Given the description of an element on the screen output the (x, y) to click on. 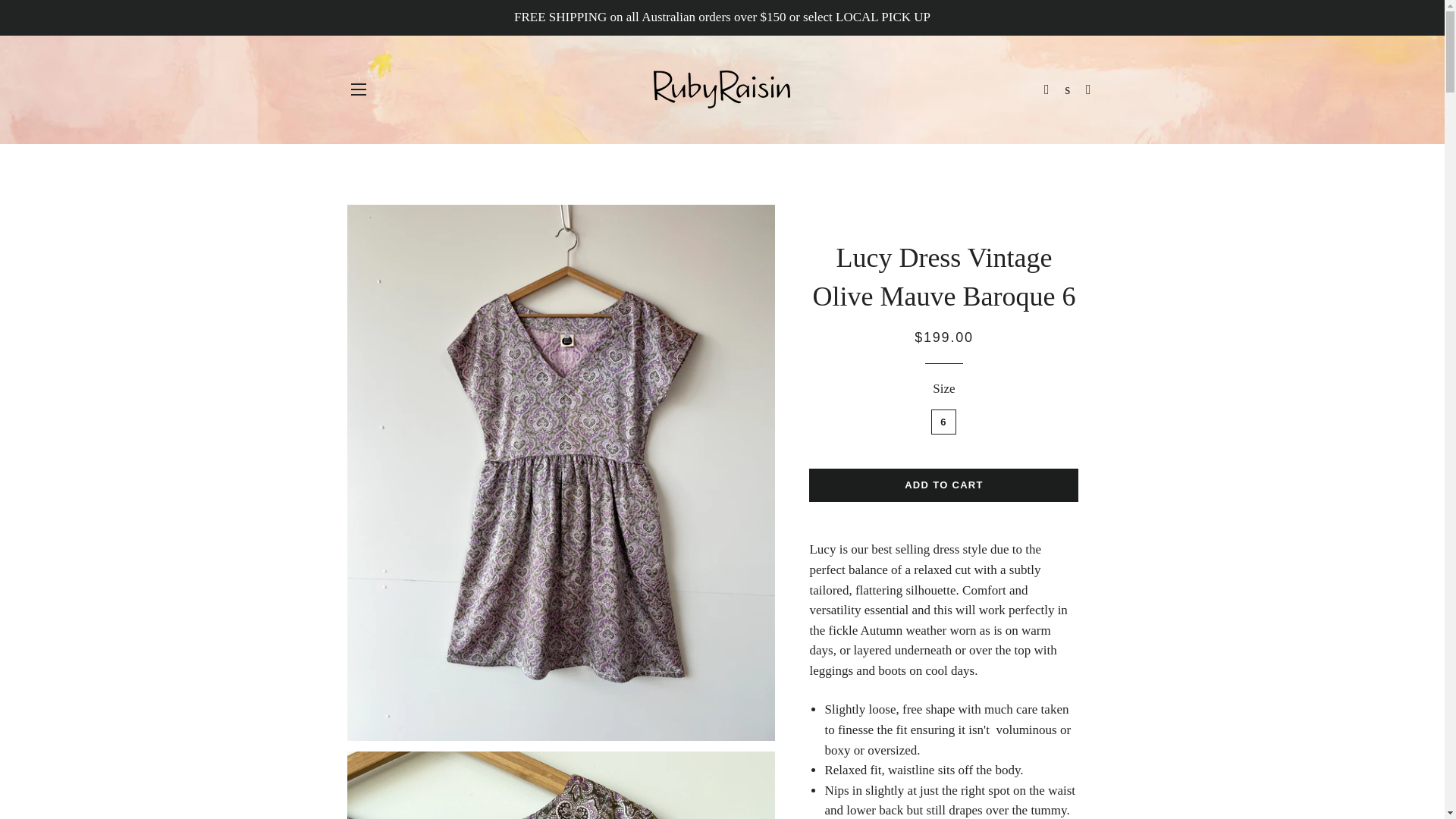
SITE NAVIGATION (358, 89)
ADD TO CART (943, 485)
